Given the description of an element on the screen output the (x, y) to click on. 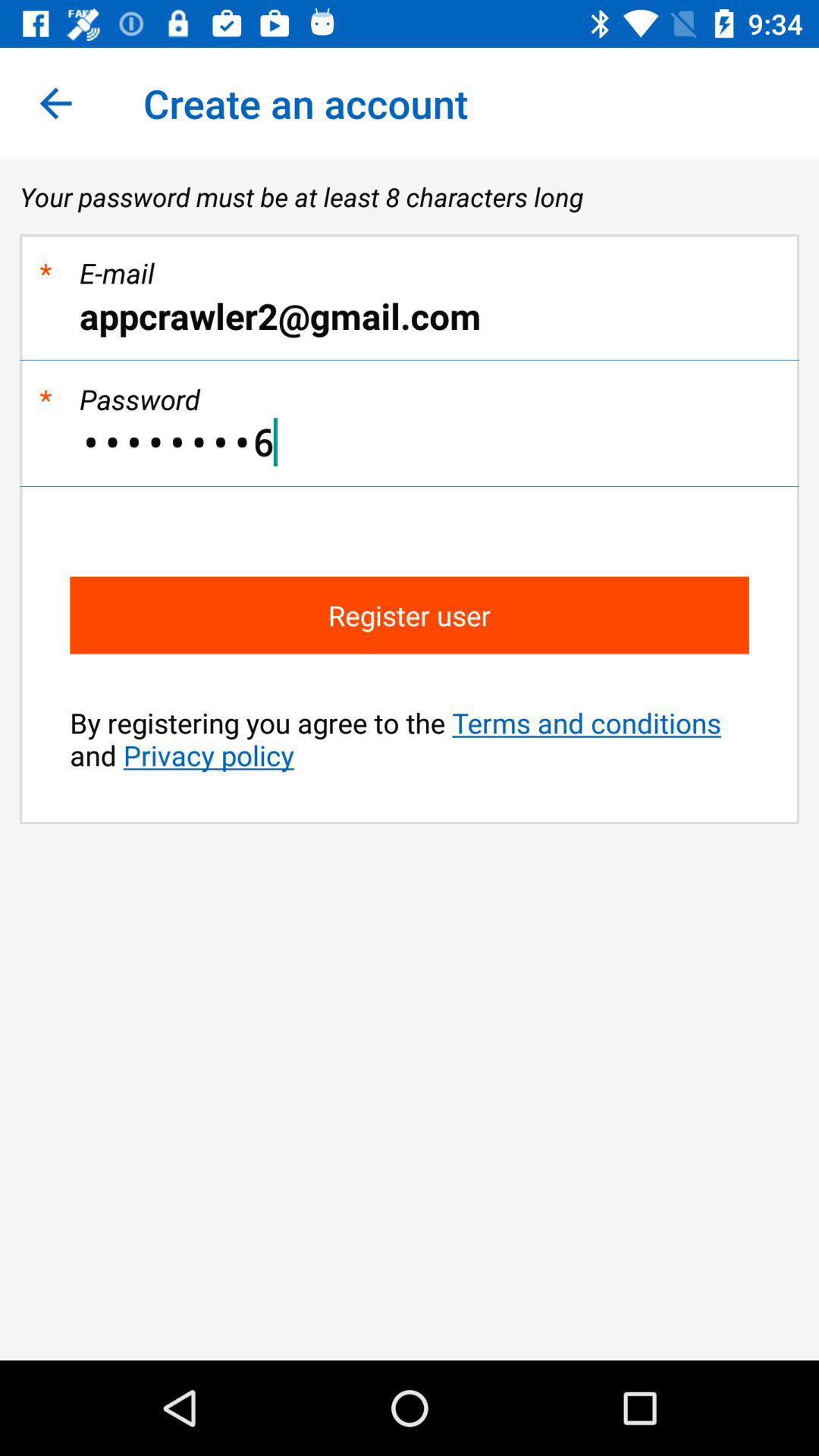
turn off the item to the left of create an account app (55, 103)
